Given the description of an element on the screen output the (x, y) to click on. 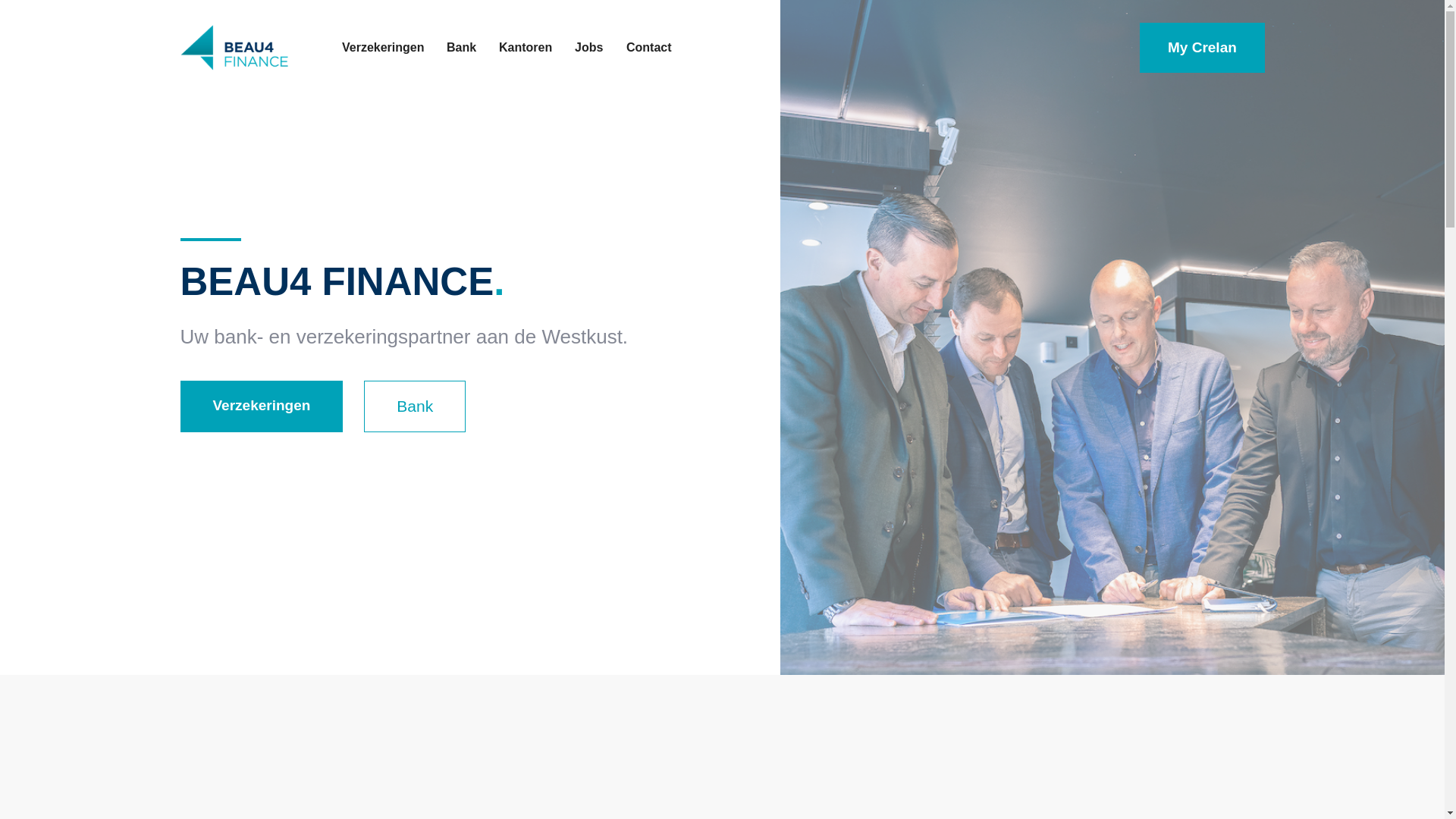
Bank Element type: text (461, 47)
Contact Element type: text (649, 47)
Verzekeringen Element type: text (383, 47)
Verzekeringen Element type: text (261, 406)
My Crelan Element type: text (1201, 47)
Kantoren Element type: text (525, 47)
Bank Element type: text (414, 406)
Jobs Element type: text (588, 47)
